Given the description of an element on the screen output the (x, y) to click on. 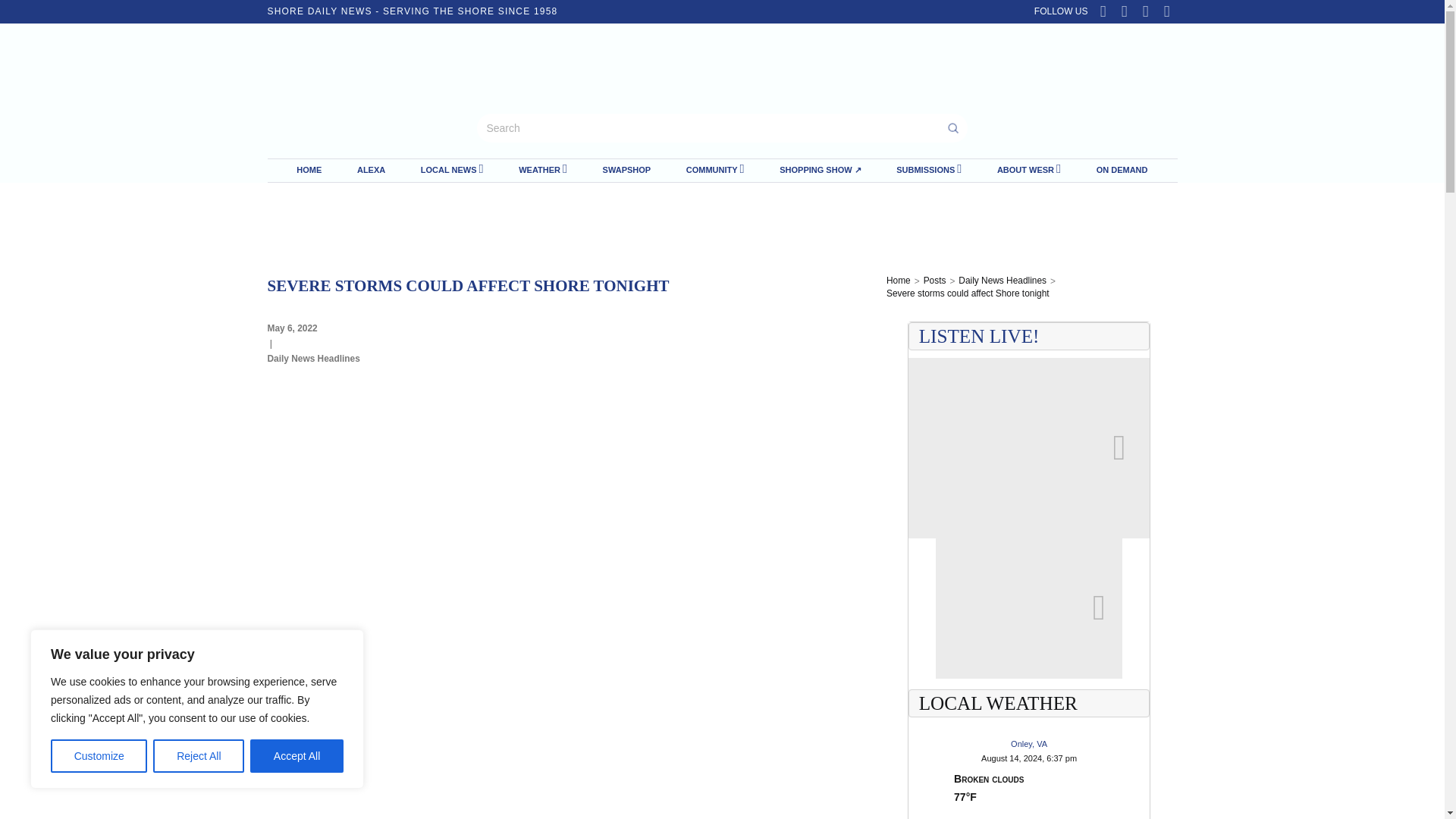
Reject All (198, 756)
You Are Here (967, 293)
Customize (98, 756)
Accept All (296, 756)
